Given the description of an element on the screen output the (x, y) to click on. 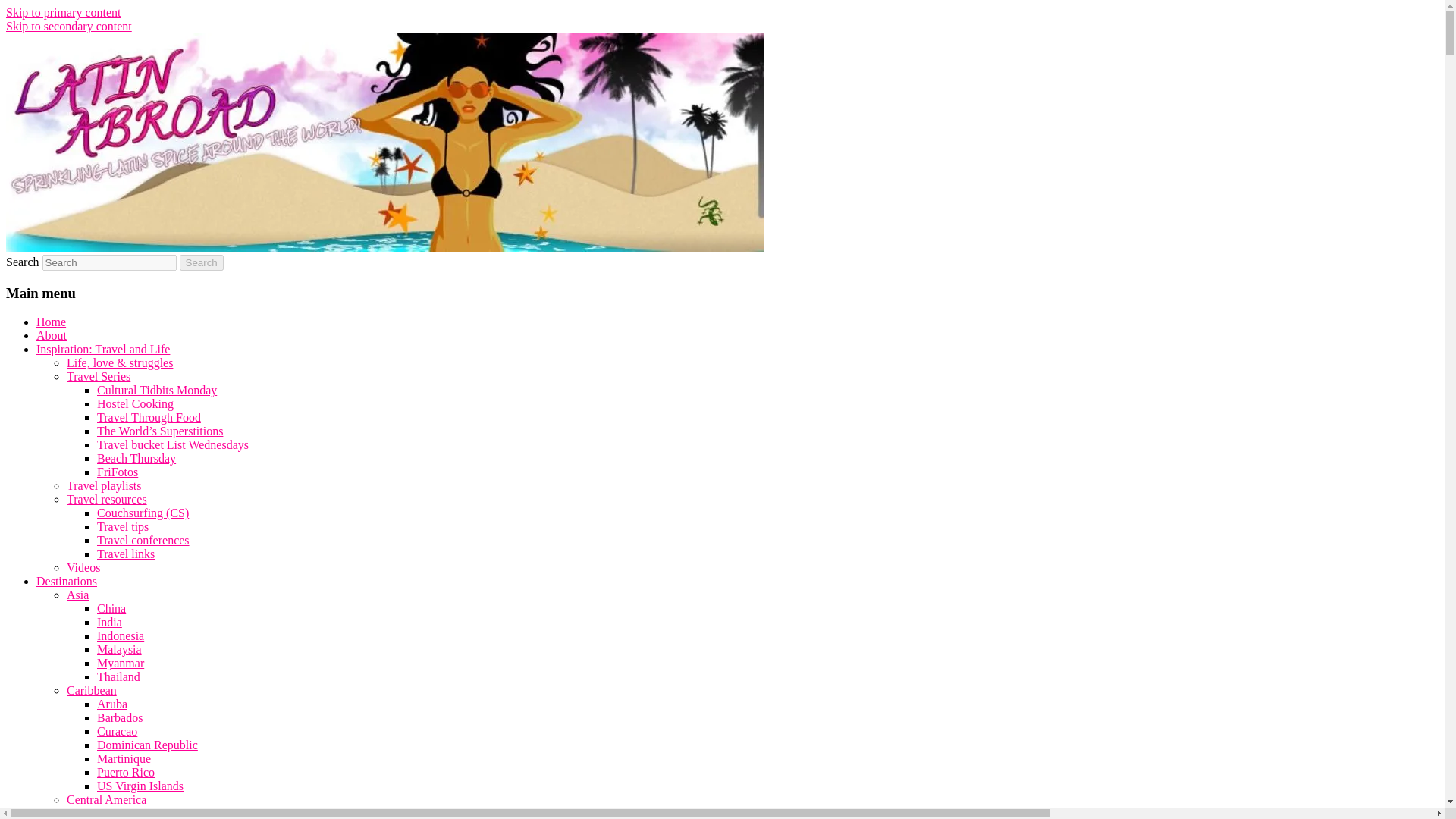
Aruba (112, 703)
Puerto Rico (125, 771)
About (51, 335)
Hostel Cooking (135, 403)
Travel tips (122, 526)
Barbados (119, 717)
China (111, 608)
Inspiration: Travel and Life (103, 349)
Travel bucket List Wednesdays (172, 444)
Search (201, 262)
Search (201, 262)
Destinations (66, 581)
Home (50, 321)
Travel playlists (103, 485)
Malaysia (119, 649)
